Given the description of an element on the screen output the (x, y) to click on. 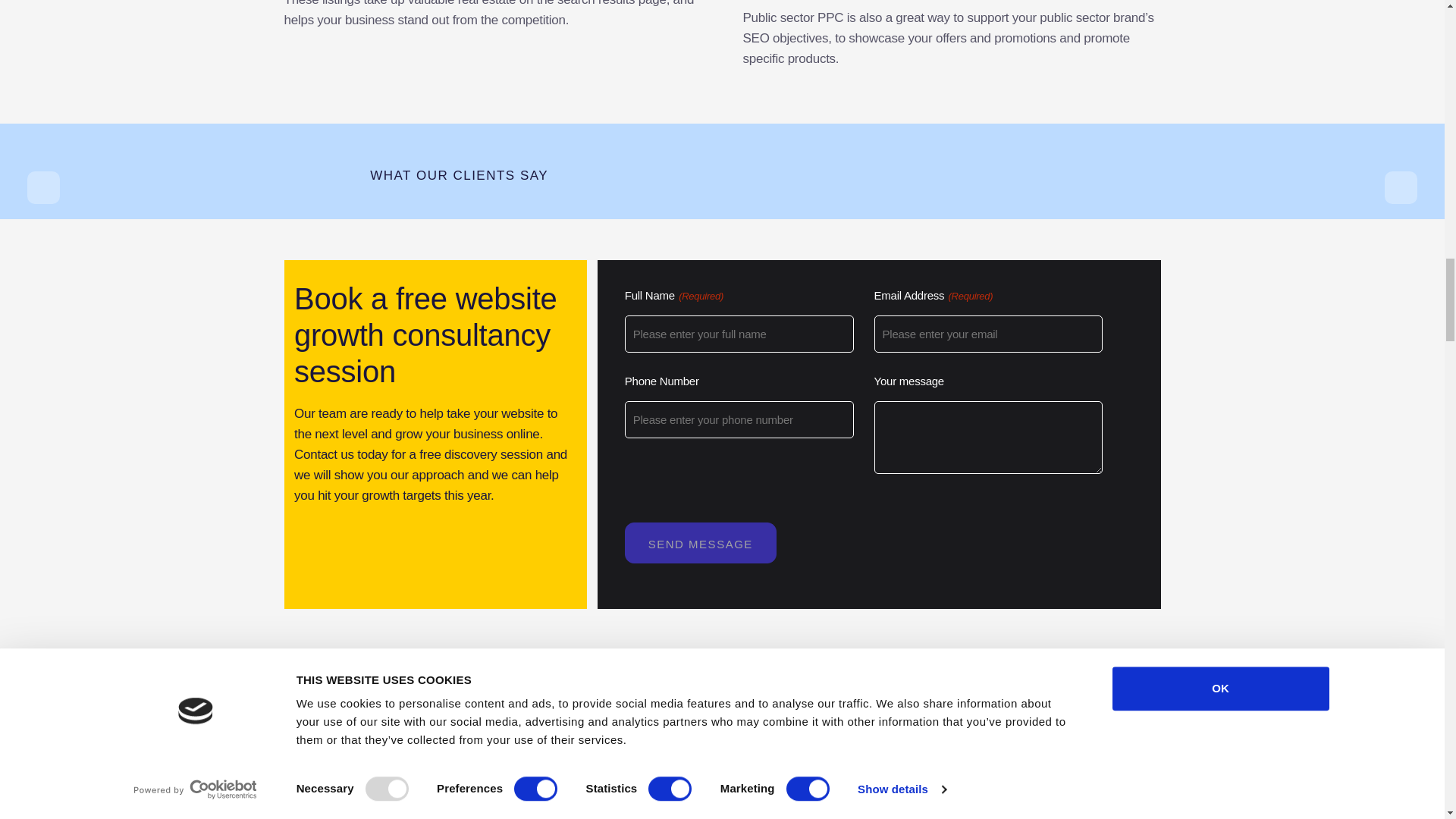
SEND MESSAGE (700, 541)
